Given the description of an element on the screen output the (x, y) to click on. 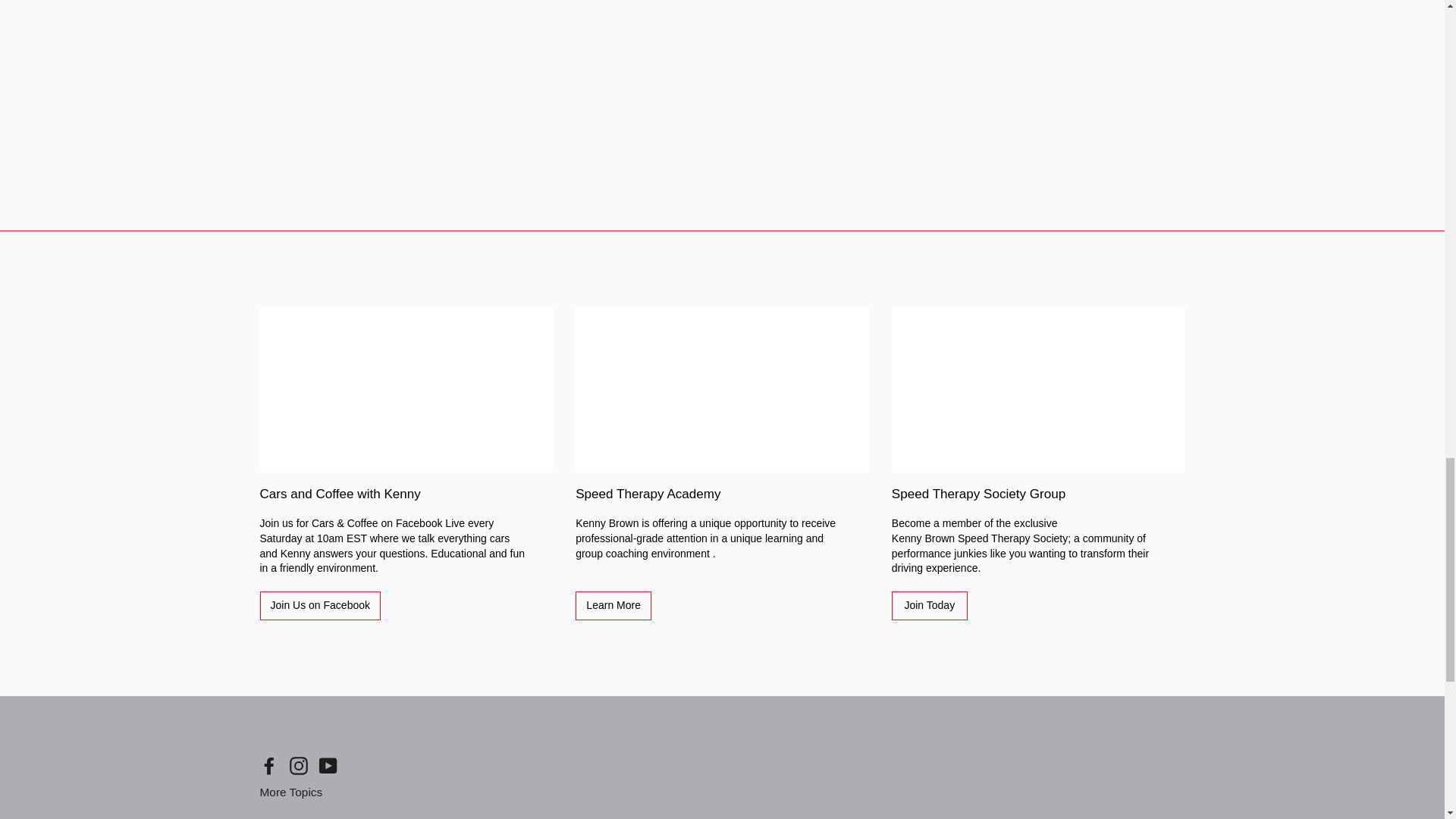
Kenny Brown Performance on Facebook (268, 765)
Kenny Brown Performance on Instagram (298, 765)
Kenny Brown Performance on YouTube (327, 765)
